Given the description of an element on the screen output the (x, y) to click on. 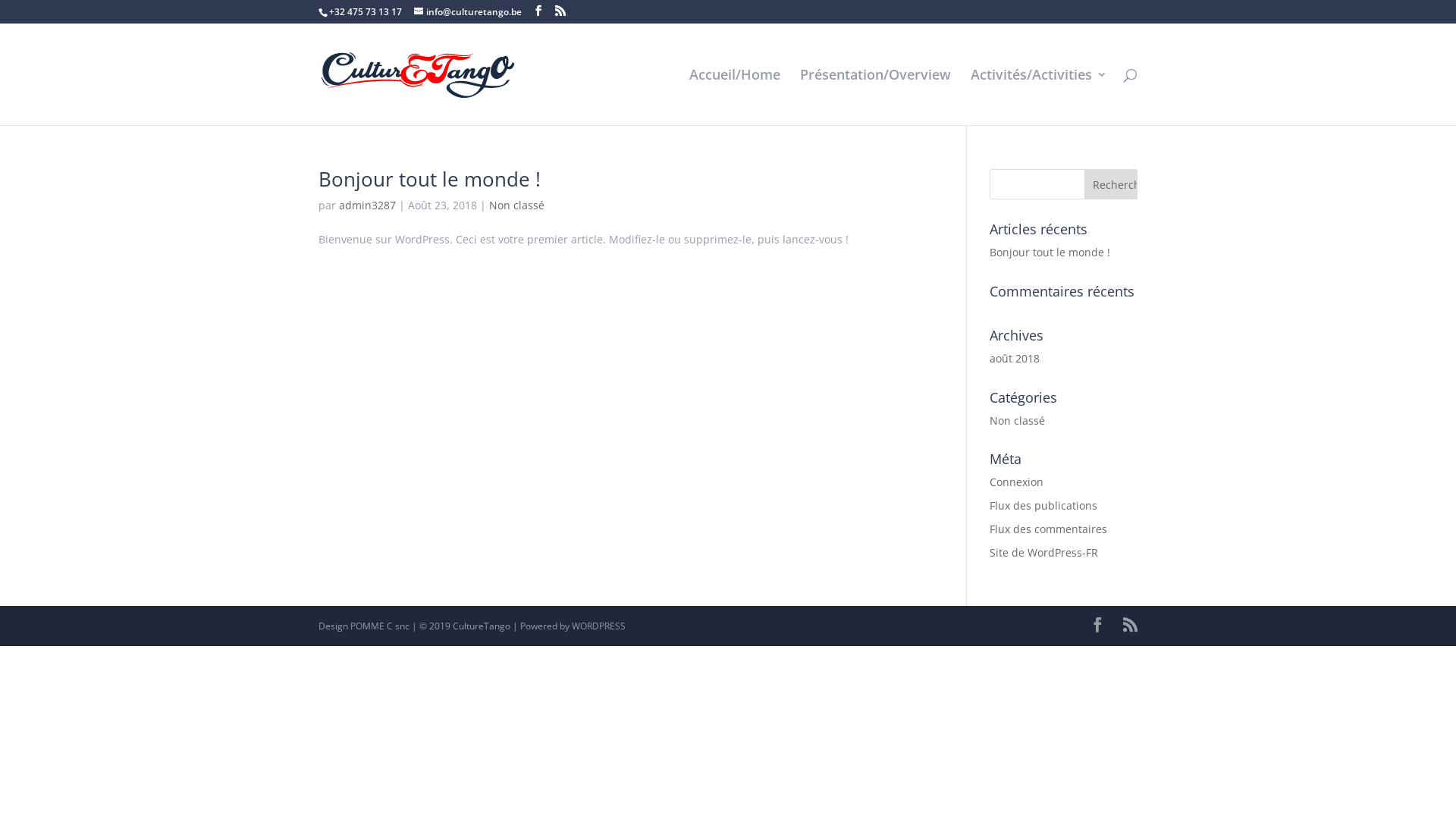
Flux des publications Element type: text (1043, 505)
info@culturetango.be Element type: text (467, 11)
Bonjour tout le monde ! Element type: text (1049, 251)
Rechercher Element type: text (1110, 184)
Site de WordPress-FR Element type: text (1043, 552)
Connexion Element type: text (1016, 481)
Accueil/Home Element type: text (734, 97)
admin3287 Element type: text (366, 204)
Bonjour tout le monde ! Element type: text (429, 178)
Flux des commentaires Element type: text (1048, 528)
